Given the description of an element on the screen output the (x, y) to click on. 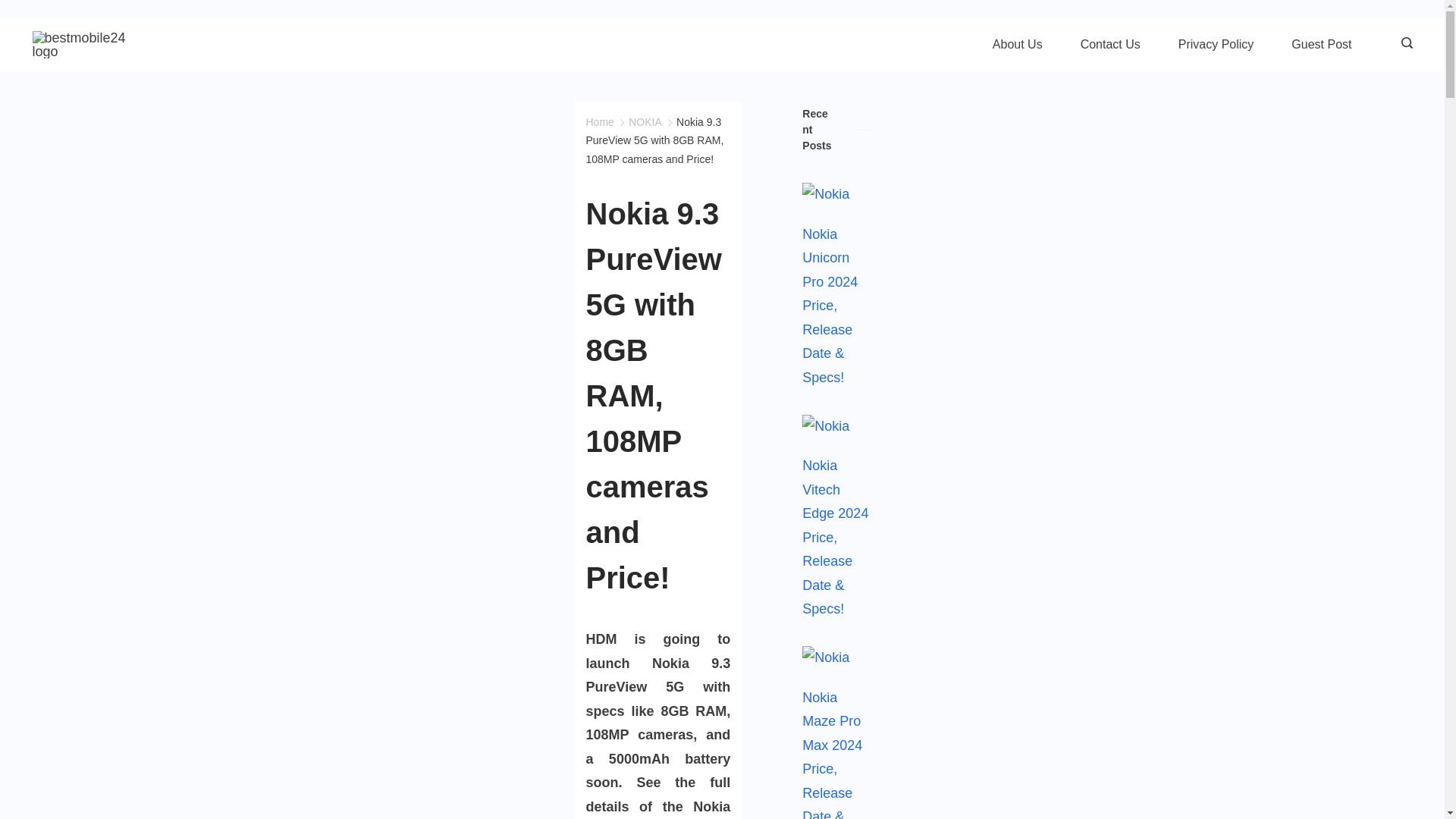
Contact Us (1109, 44)
About Us (1017, 44)
Home (598, 121)
Guest Post (1321, 44)
NOKIA (645, 121)
Privacy Policy (1215, 44)
Nokia 9.3 PureView 5G with 8GB RAM, 108MP cameras and Price! (654, 140)
